Given the description of an element on the screen output the (x, y) to click on. 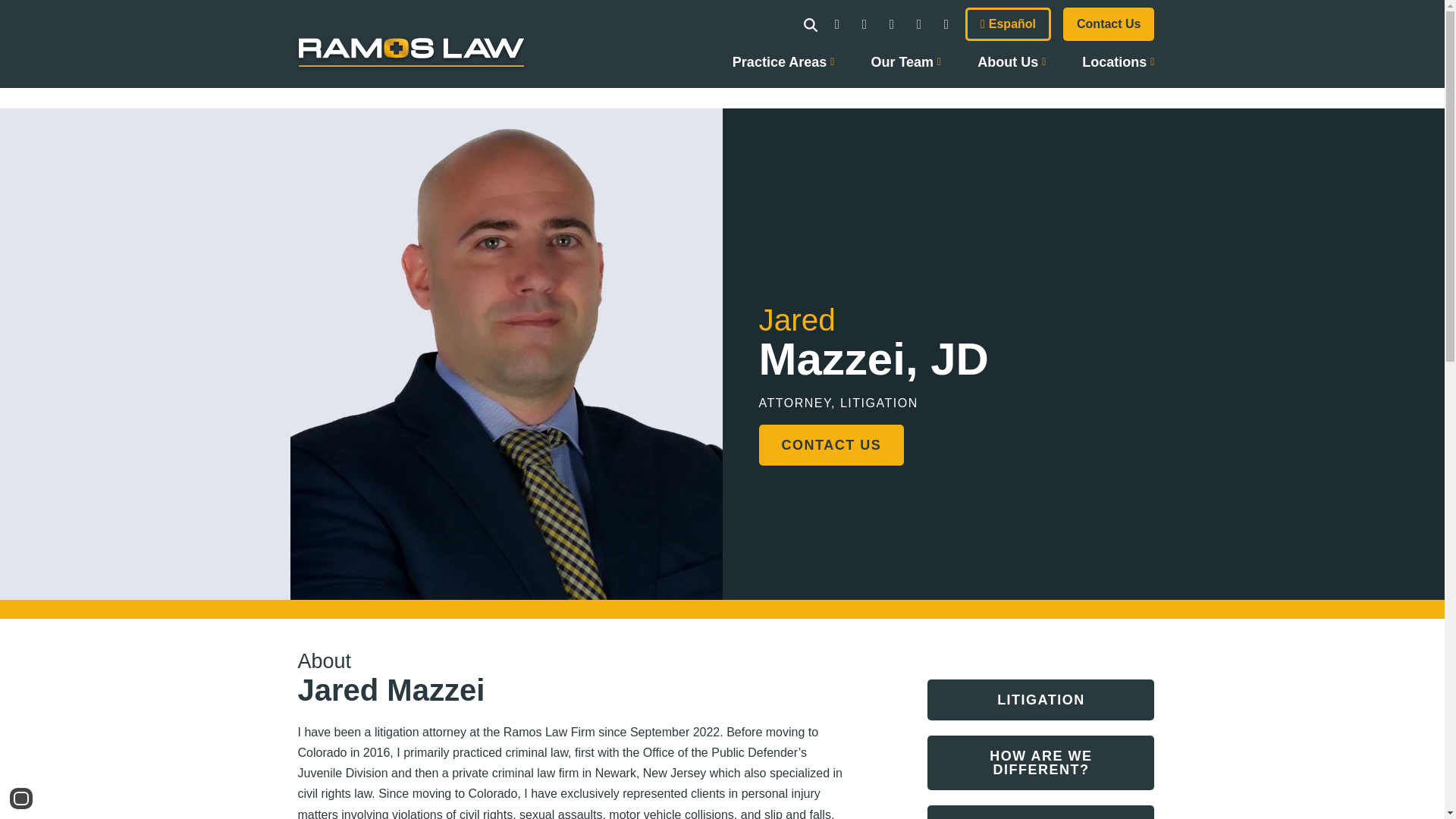
Contact Us (1108, 23)
Accessibility Menu (21, 798)
Practice Areas (783, 66)
Back to the homepage (410, 62)
